Given the description of an element on the screen output the (x, y) to click on. 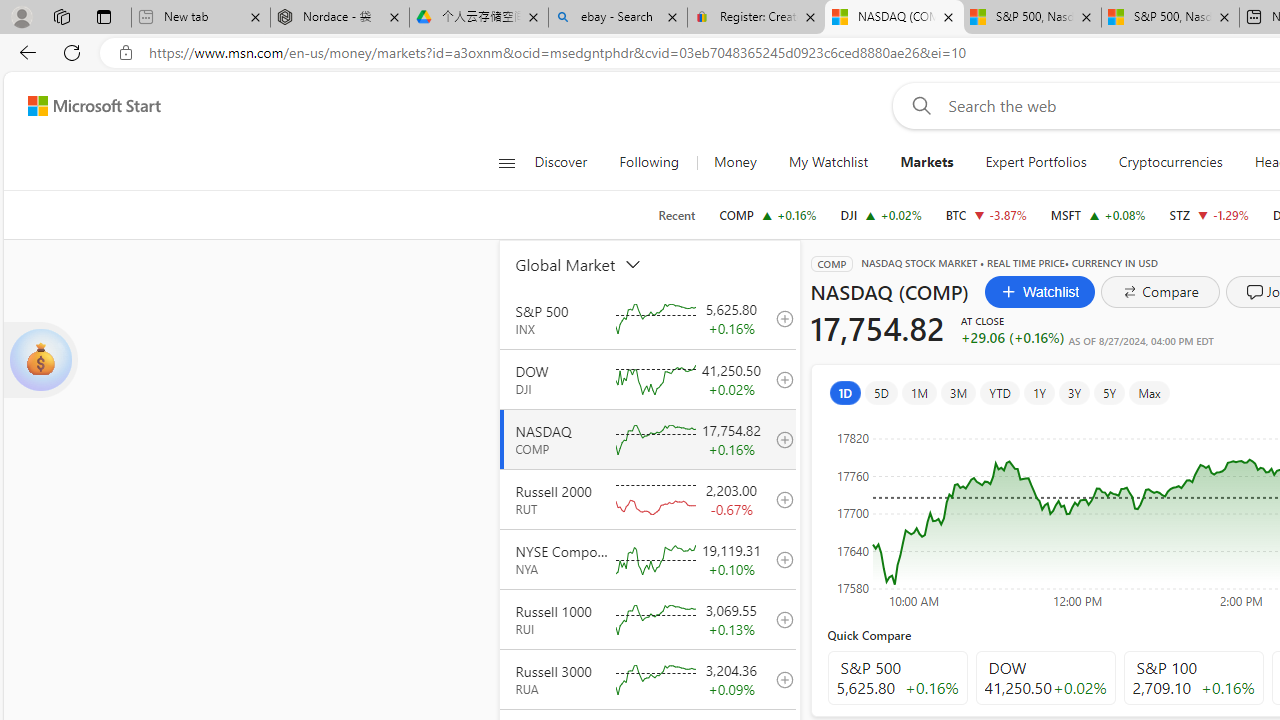
Cryptocurrencies (1170, 162)
